Given the description of an element on the screen output the (x, y) to click on. 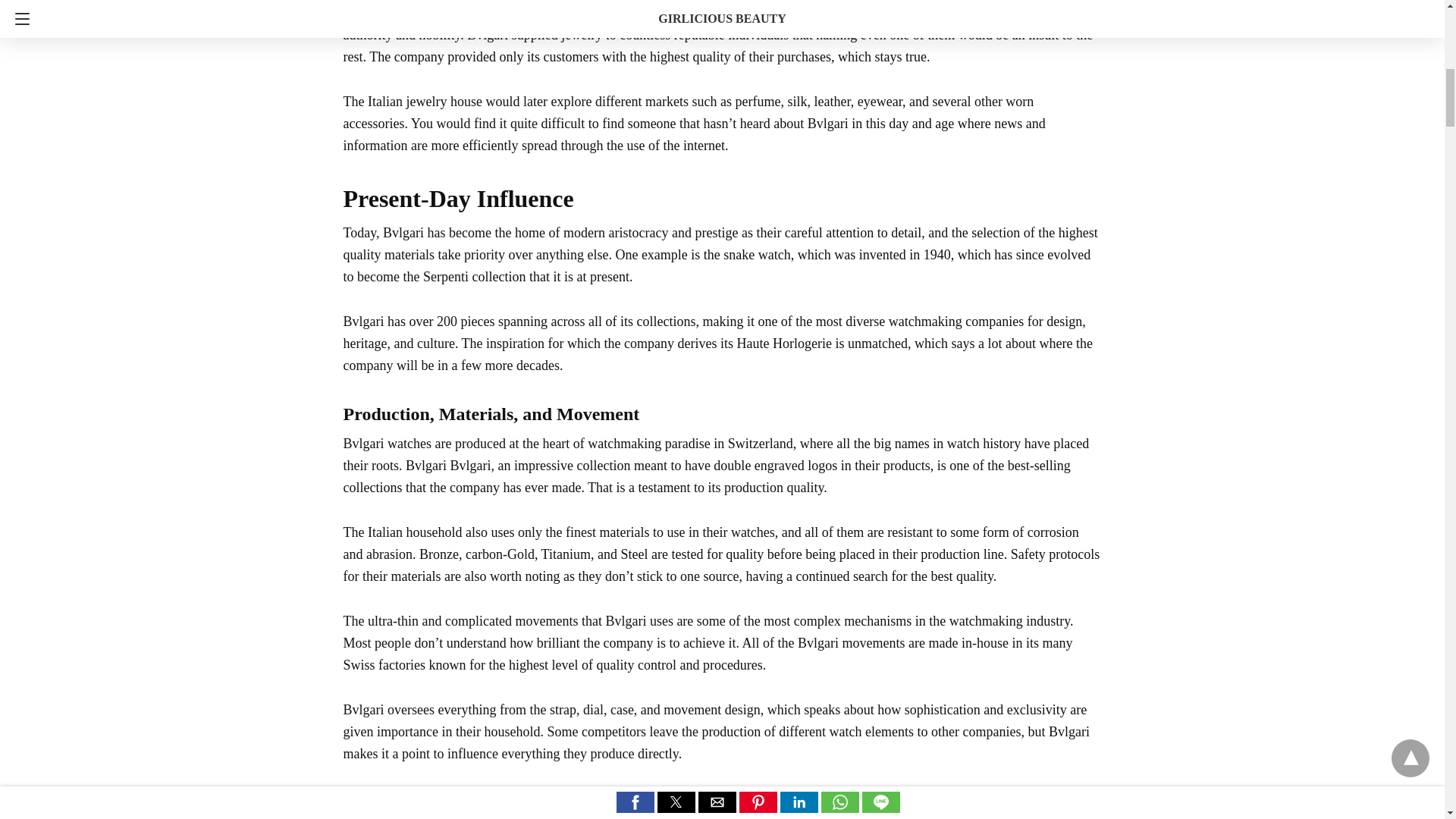
Bvlgari mens watch (725, 12)
